Given the description of an element on the screen output the (x, y) to click on. 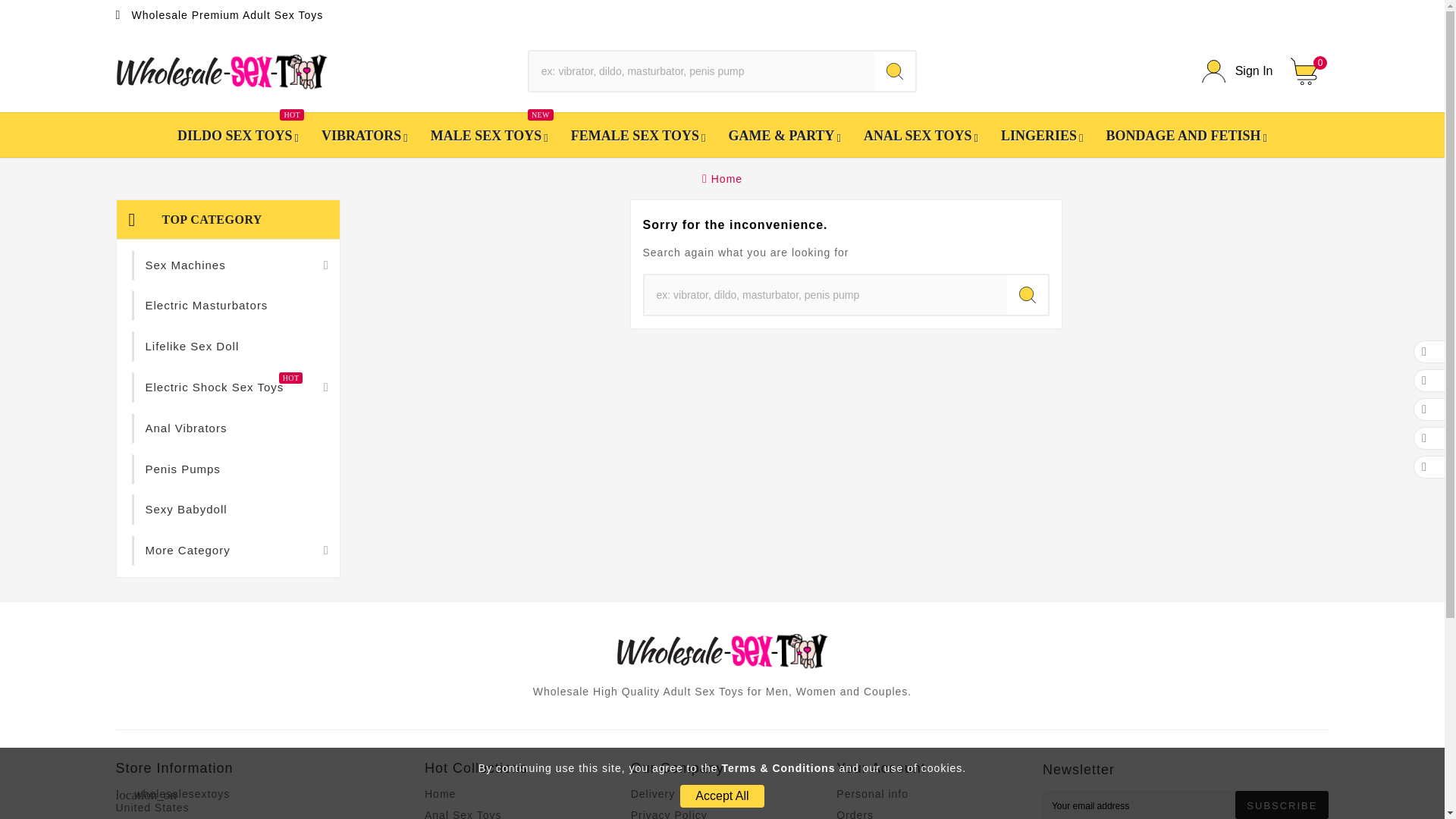
Anal Sex Toys (237, 135)
Accept All (462, 814)
Personal info (720, 795)
VIBRATORS (871, 793)
0 (364, 135)
Sign In (1308, 71)
Cart (1237, 71)
Our terms and conditions of delivery (1308, 71)
Home (652, 793)
